Given the description of an element on the screen output the (x, y) to click on. 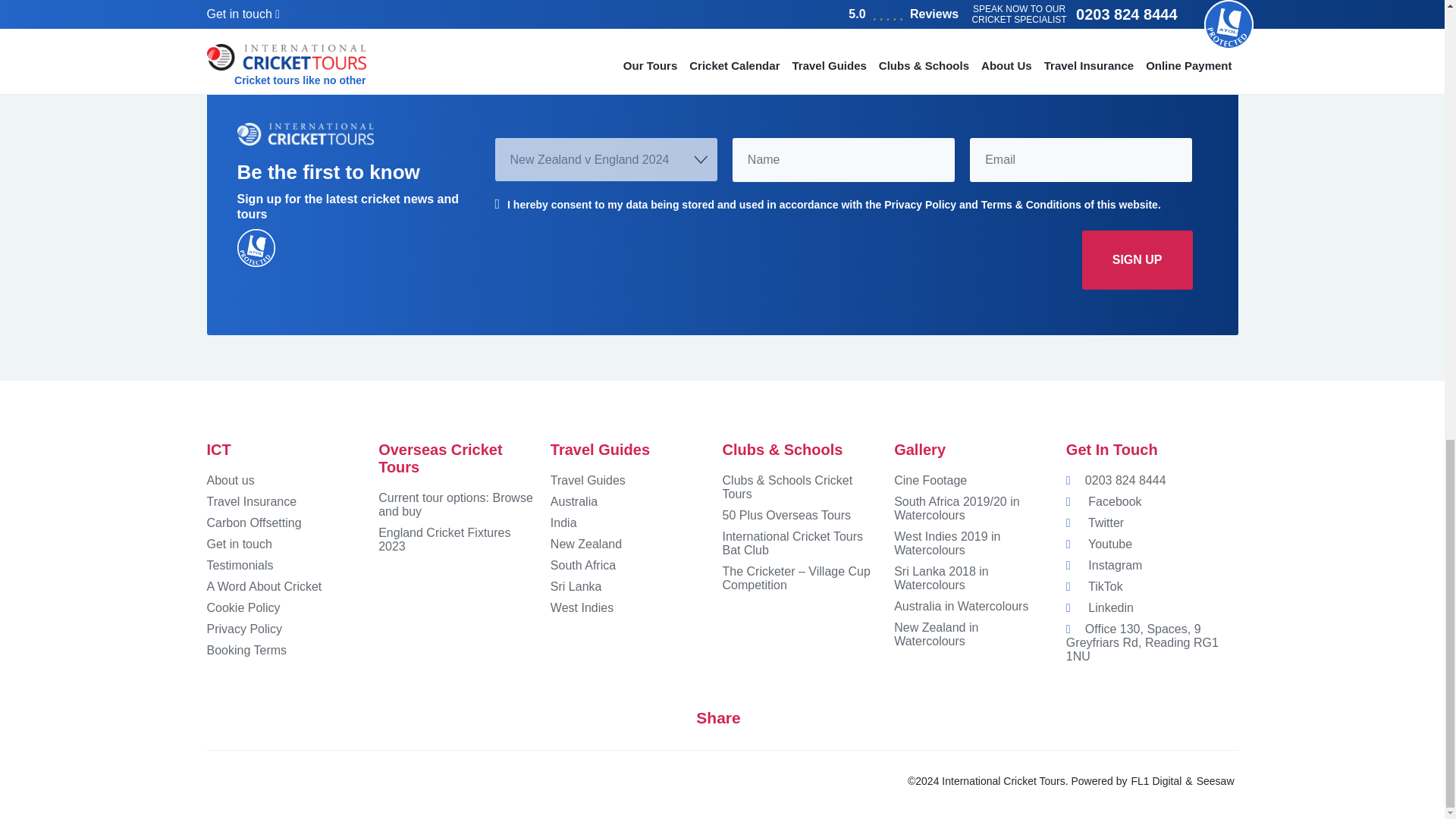
Sign up (1136, 259)
